Given the description of an element on the screen output the (x, y) to click on. 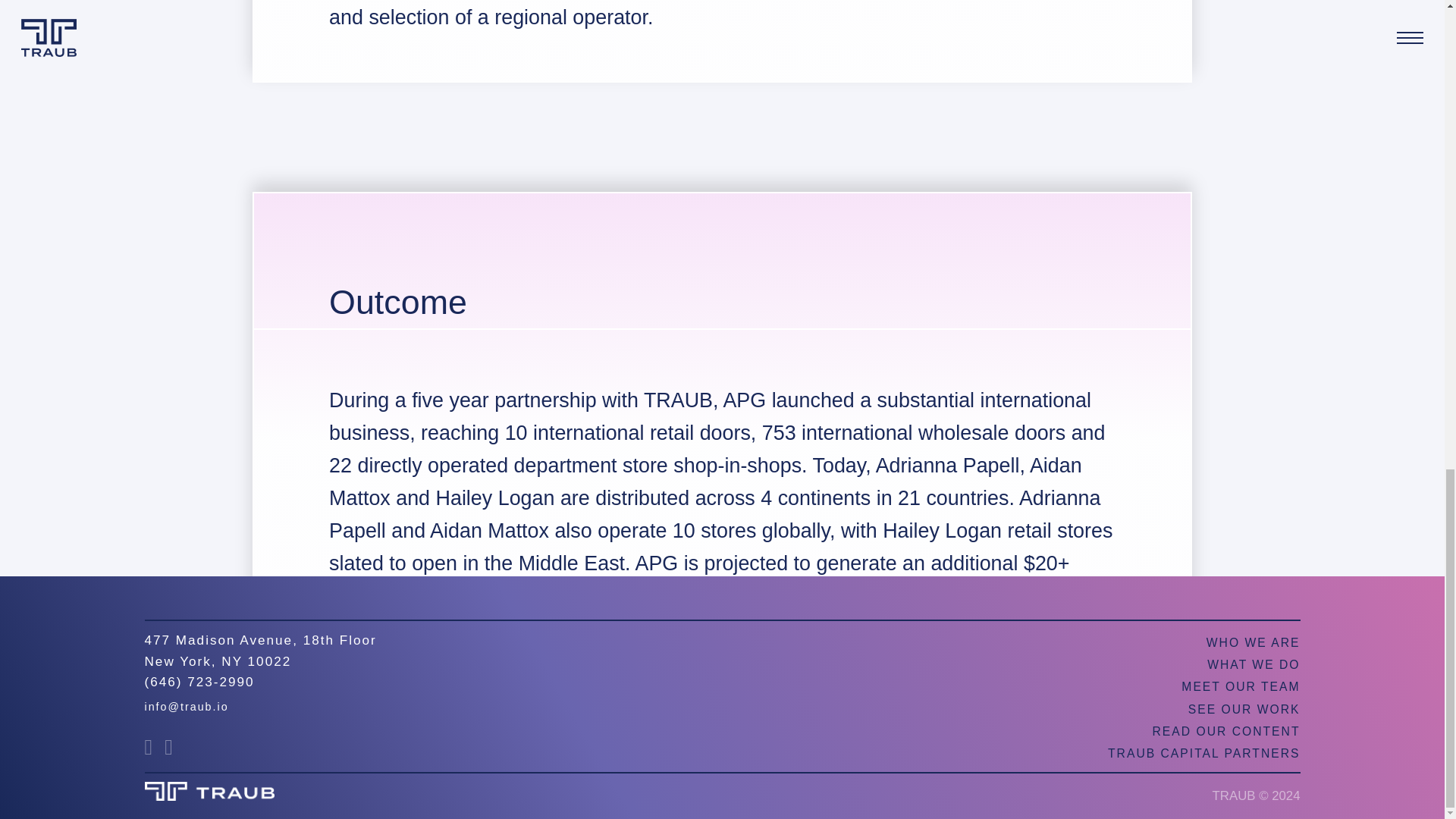
WHO WE ARE (1253, 642)
TRAUB CAPITAL PARTNERS (1204, 753)
SEE OUR WORK (1244, 708)
MEET OUR TEAM (1240, 686)
WHAT WE DO (1253, 664)
READ OUR CONTENT (1226, 730)
